Given the description of an element on the screen output the (x, y) to click on. 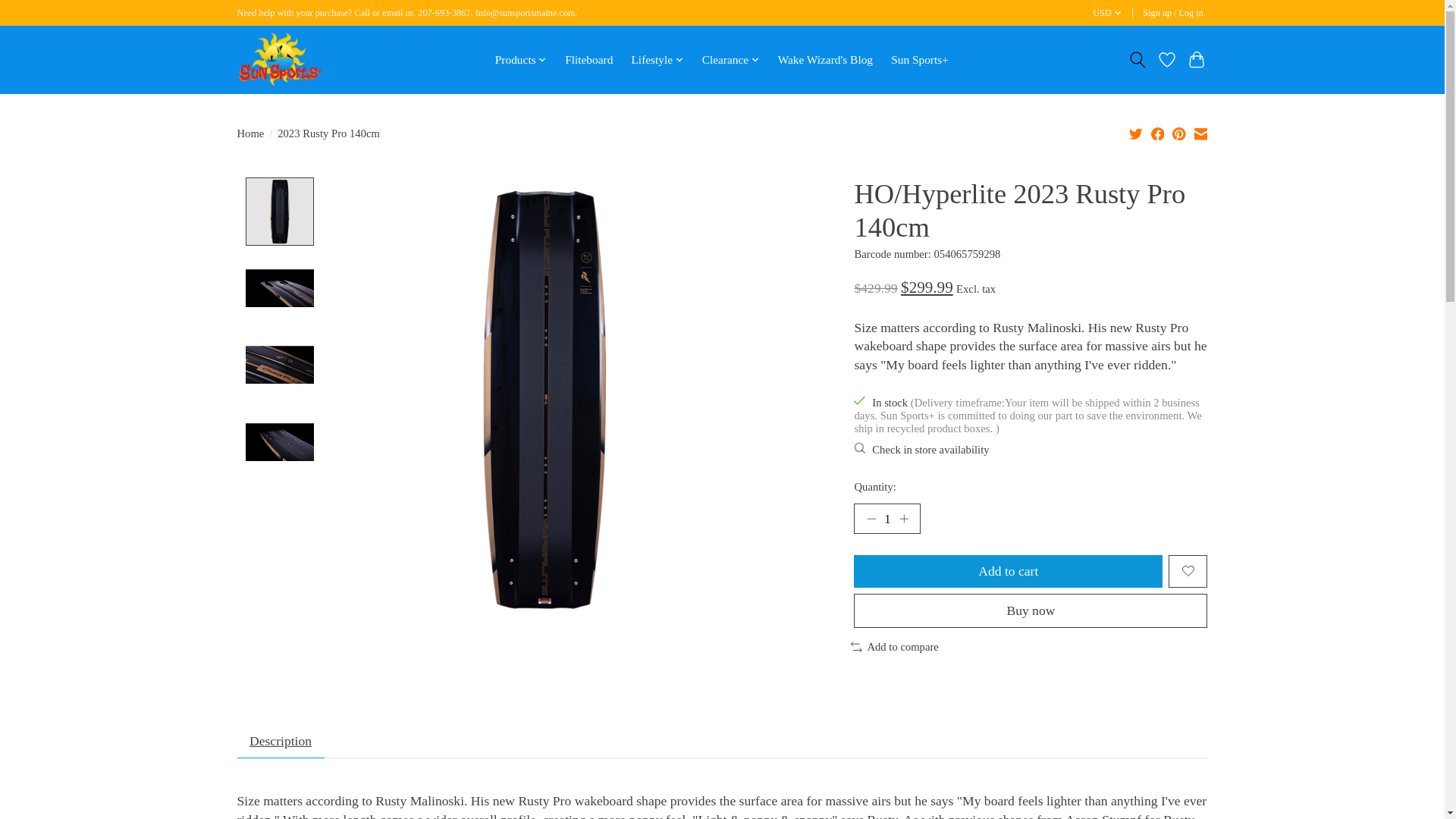
My account (1173, 13)
Share on Pinterest (1178, 133)
Products (521, 59)
Sun Sports (279, 59)
Share by Email (1200, 133)
Share on Twitter (1135, 133)
USD (1107, 13)
1 (886, 518)
Share on Facebook (1157, 133)
